Given the description of an element on the screen output the (x, y) to click on. 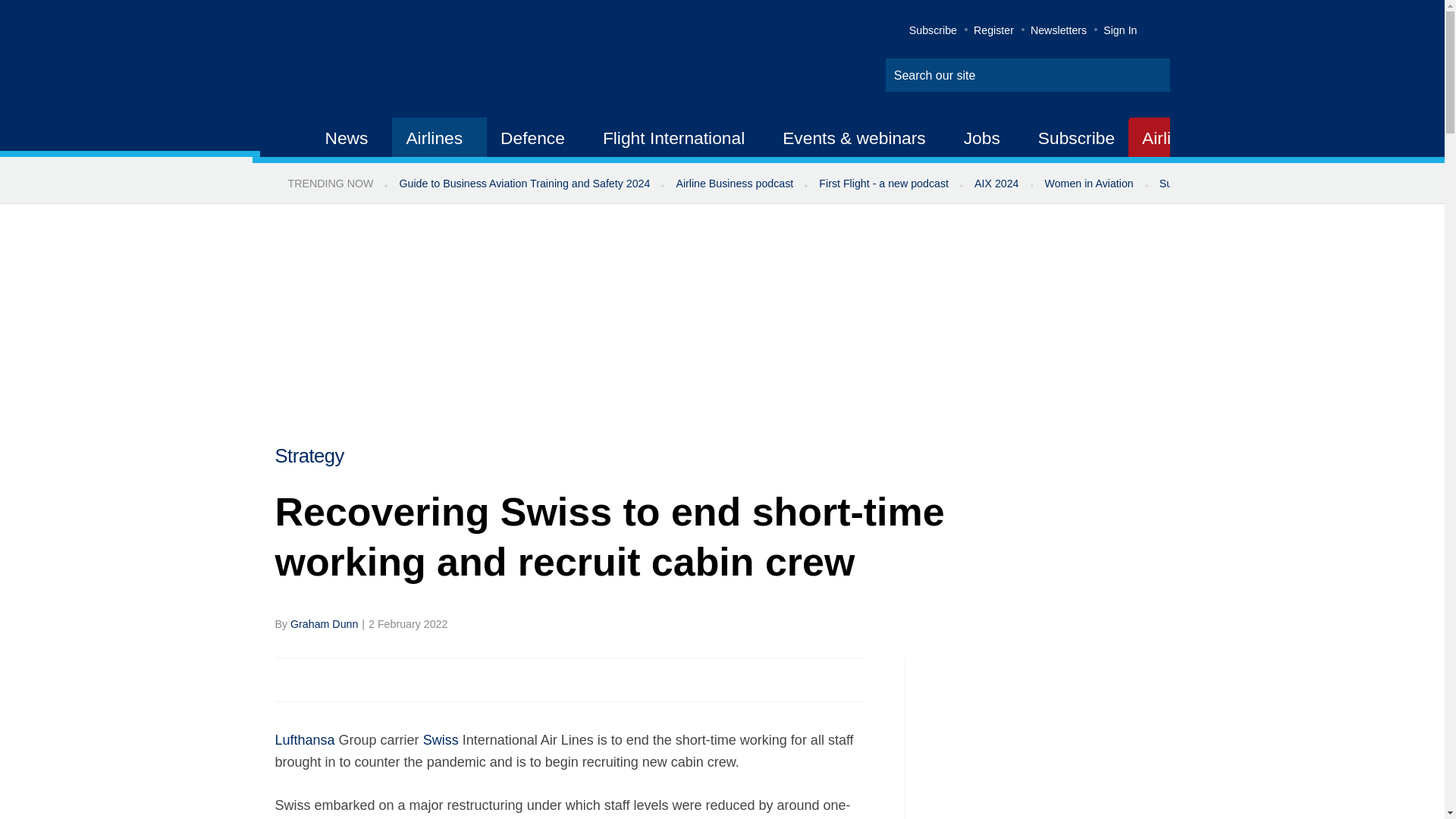
Share this on Twitter (320, 678)
Share this on Facebook (288, 678)
First Flight - a new podcast (883, 183)
Guide to Business Aviation Training and Safety 2024 (523, 183)
AIX 2024 (996, 183)
Airline Business podcast (734, 183)
Share this on Linked in (352, 678)
Sustainable Aviation newsletter (1234, 183)
Site name (422, 60)
Women in Aviation (1089, 183)
